Given the description of an element on the screen output the (x, y) to click on. 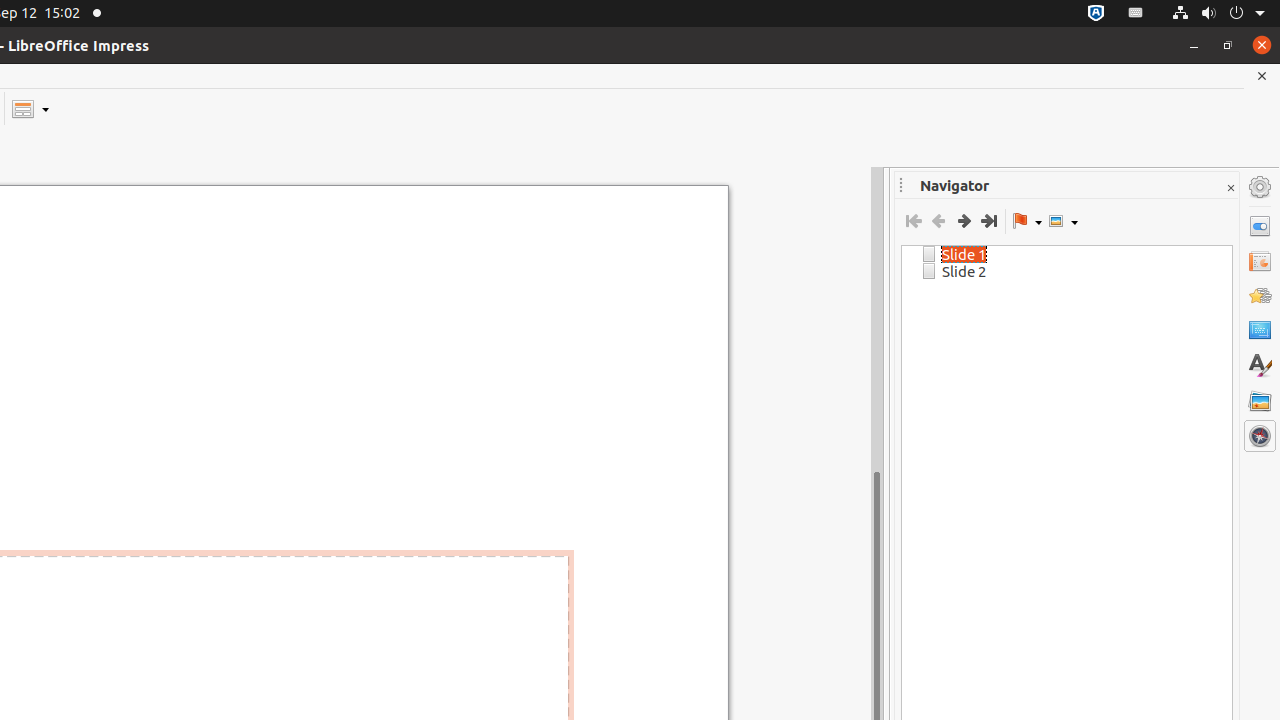
Last Slide Element type: push-button (988, 221)
:1.21/StatusNotifierItem Element type: menu (1136, 13)
Slide Transition Element type: radio-button (1260, 261)
Previous Slide Element type: push-button (938, 221)
